Given the description of an element on the screen output the (x, y) to click on. 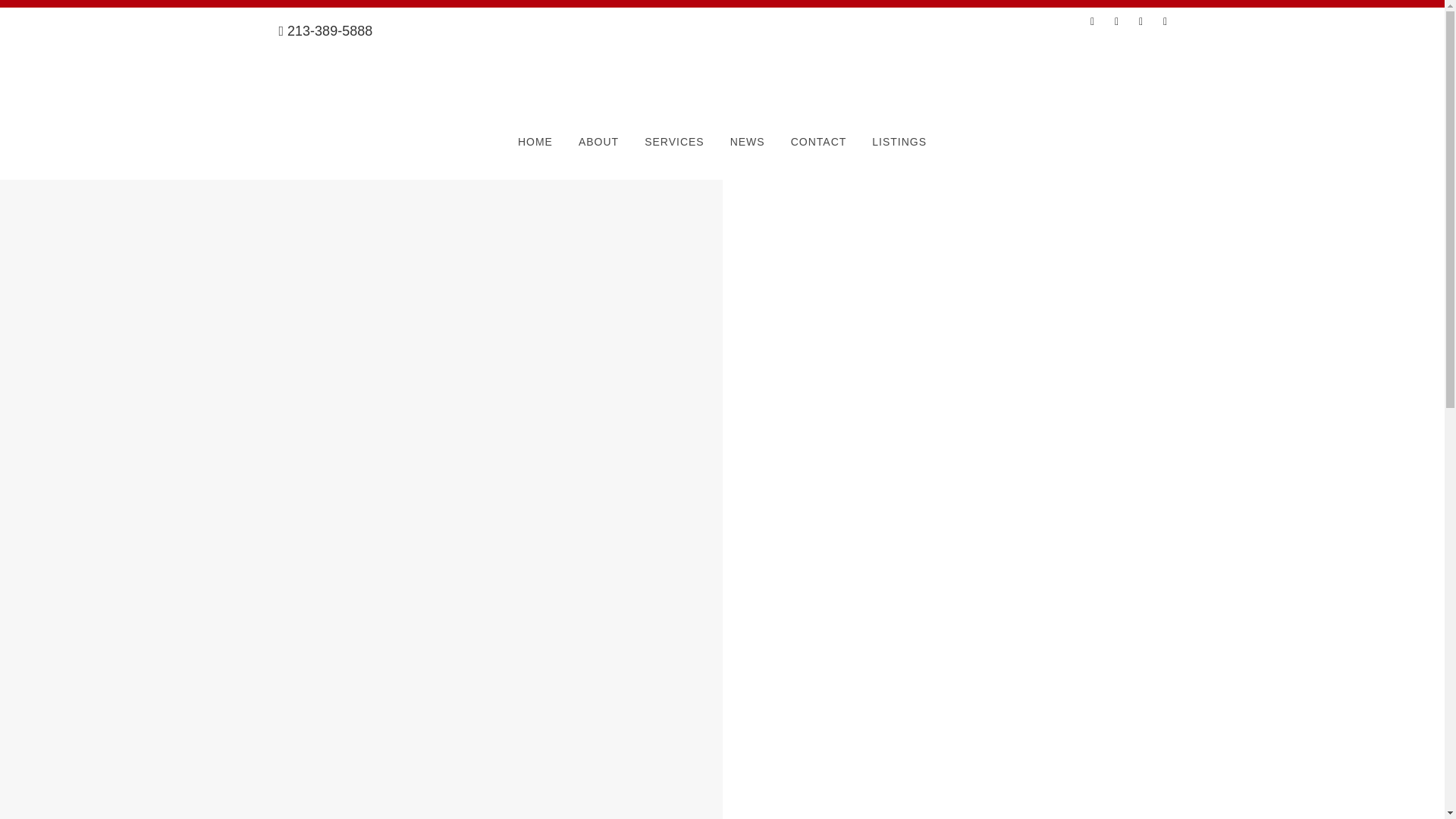
SERVICES (674, 141)
213-389-5888 (325, 30)
CONTACT (818, 141)
LISTINGS (899, 141)
